Given the description of an element on the screen output the (x, y) to click on. 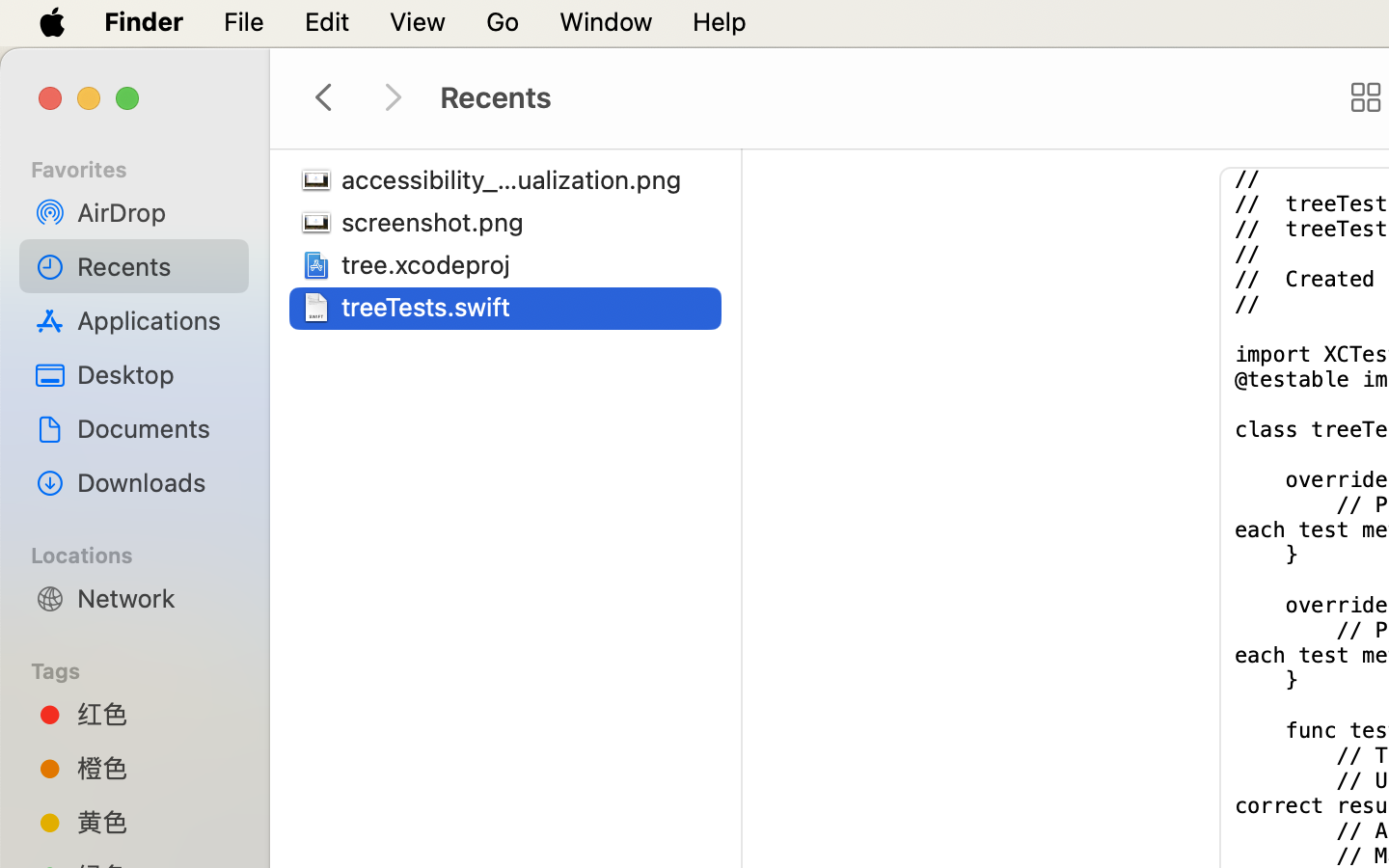
Locations Element type: AXStaticText (145, 552)
tree.xcodeproj Element type: AXTextField (429, 263)
Downloads Element type: AXStaticText (155, 481)
Recents Element type: AXStaticText (155, 265)
treeTests.swift Element type: AXTextField (429, 306)
